Given the description of an element on the screen output the (x, y) to click on. 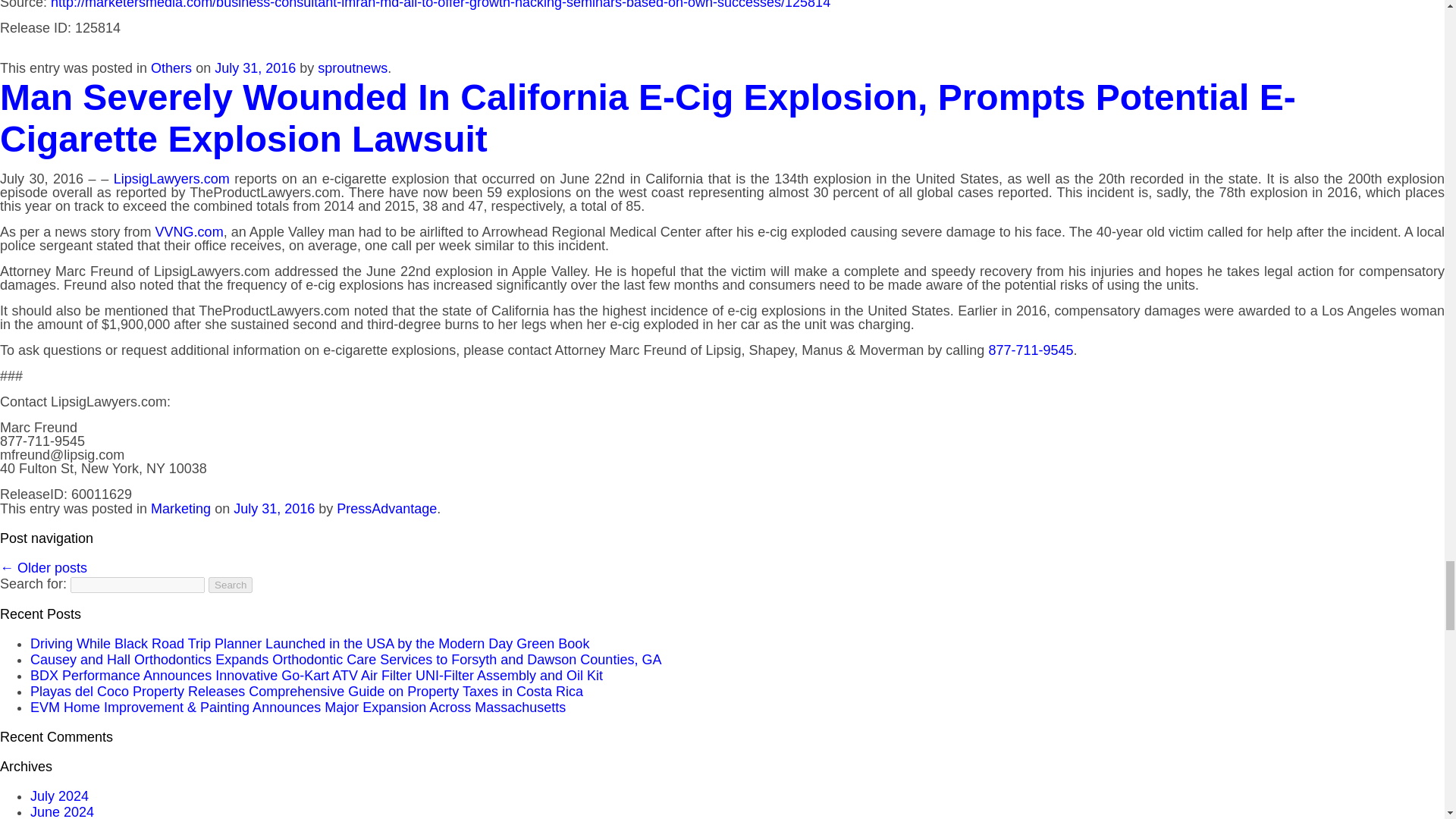
Search (229, 584)
